Given the description of an element on the screen output the (x, y) to click on. 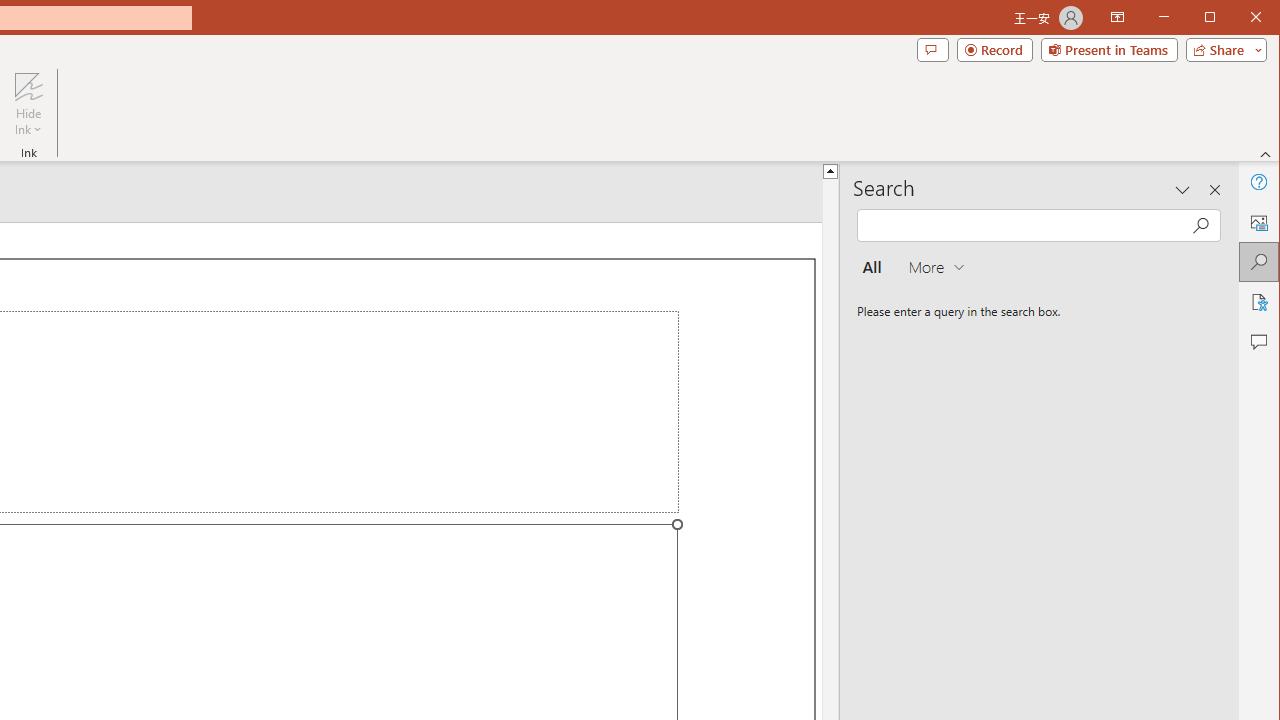
Task Pane Options (1183, 189)
Search (1258, 261)
